Given the description of an element on the screen output the (x, y) to click on. 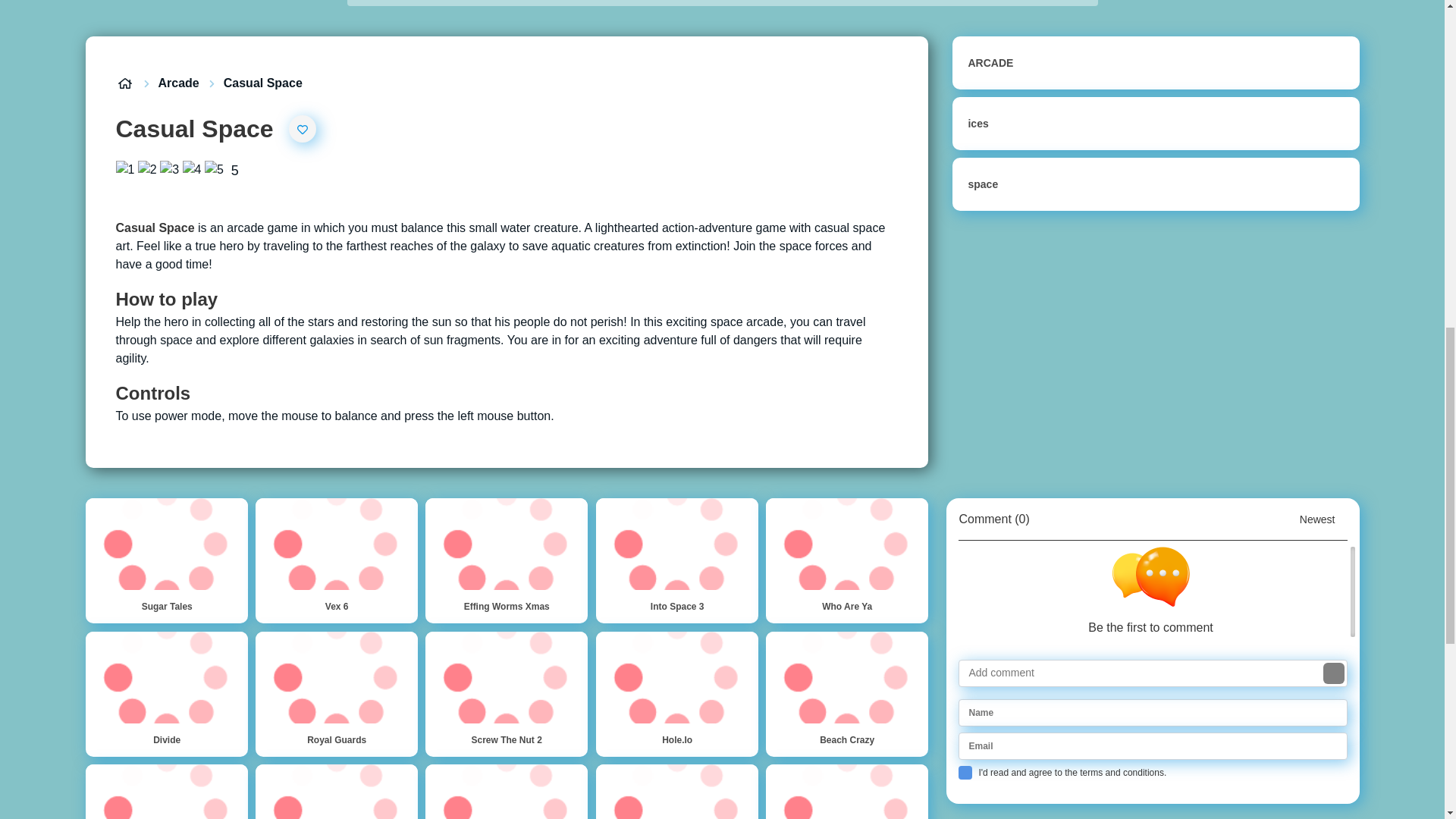
Royal Guards (336, 693)
Monster Truck Destroyer (336, 791)
Be the first to comment (1156, 592)
Into Space 3 (676, 560)
Sugar Tales (165, 560)
Word Wipe (506, 791)
ARCADE (1155, 62)
poor (147, 169)
Screw The Nut 2 (506, 693)
Hole.Io (676, 693)
